Given the description of an element on the screen output the (x, y) to click on. 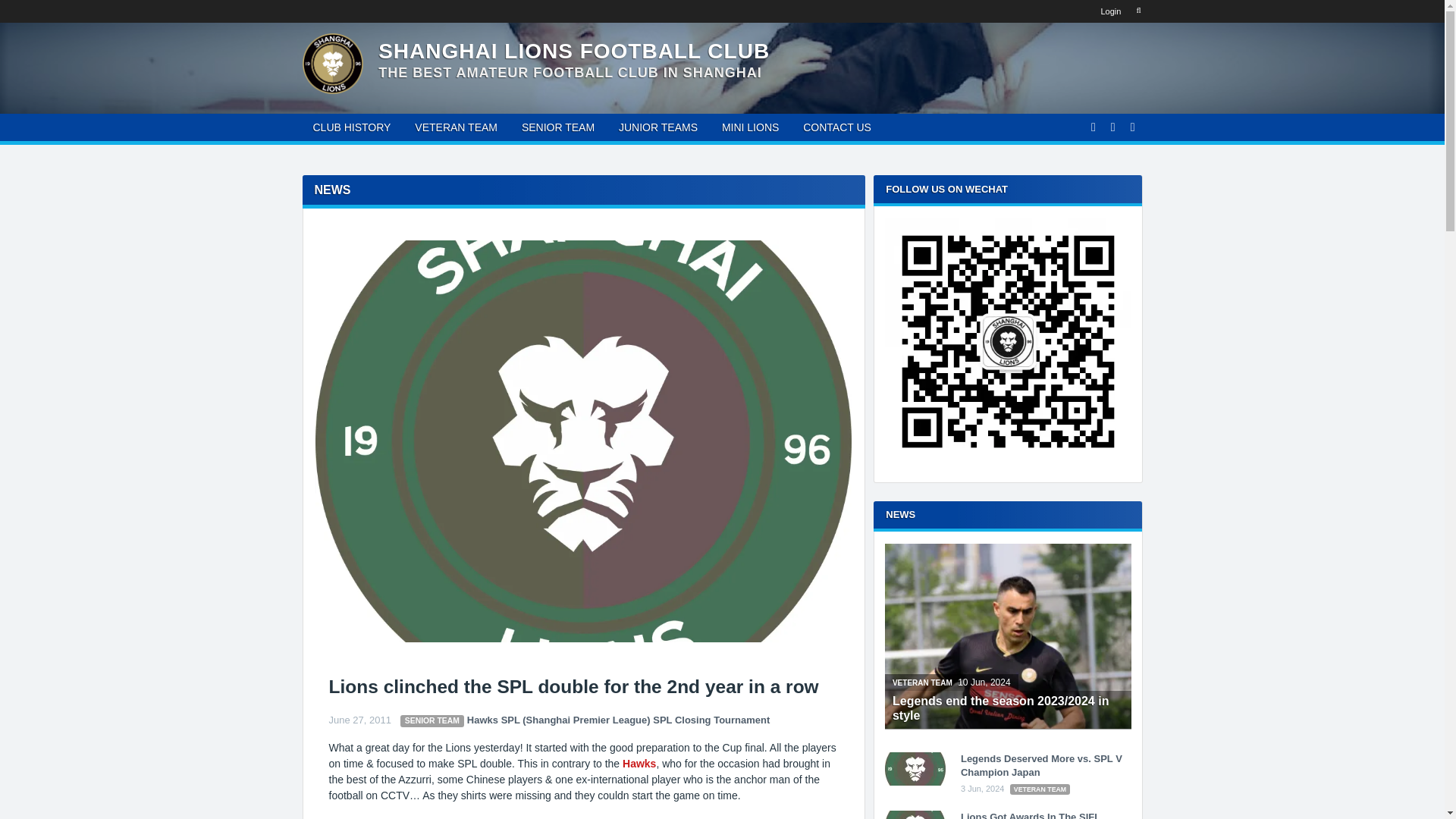
VETERAN TEAM (1040, 788)
Follow us on WeChat (1008, 341)
MINI LIONS (750, 126)
JUNIOR TEAMS (657, 126)
Hawks (482, 719)
CLUB HISTORY (351, 126)
SENIOR TEAM (432, 721)
SPL Closing Tournament (711, 719)
VETERAN TEAM (456, 126)
Legends Deserved More vs. SPL V Champion Japan (1041, 765)
